Given the description of an element on the screen output the (x, y) to click on. 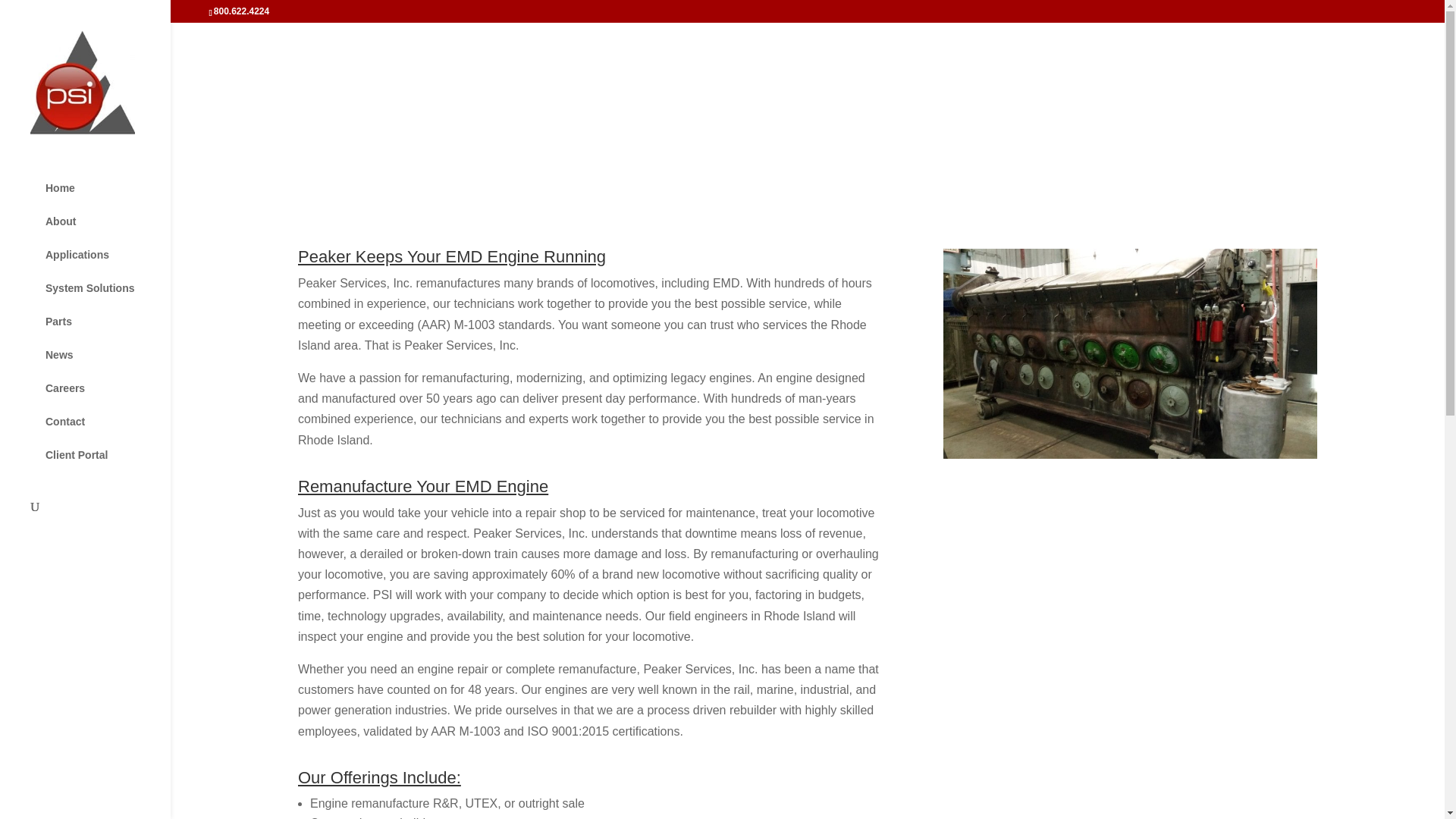
Parts (100, 321)
System Solutions (100, 287)
Home (100, 187)
Applications (100, 254)
About (100, 221)
